Given the description of an element on the screen output the (x, y) to click on. 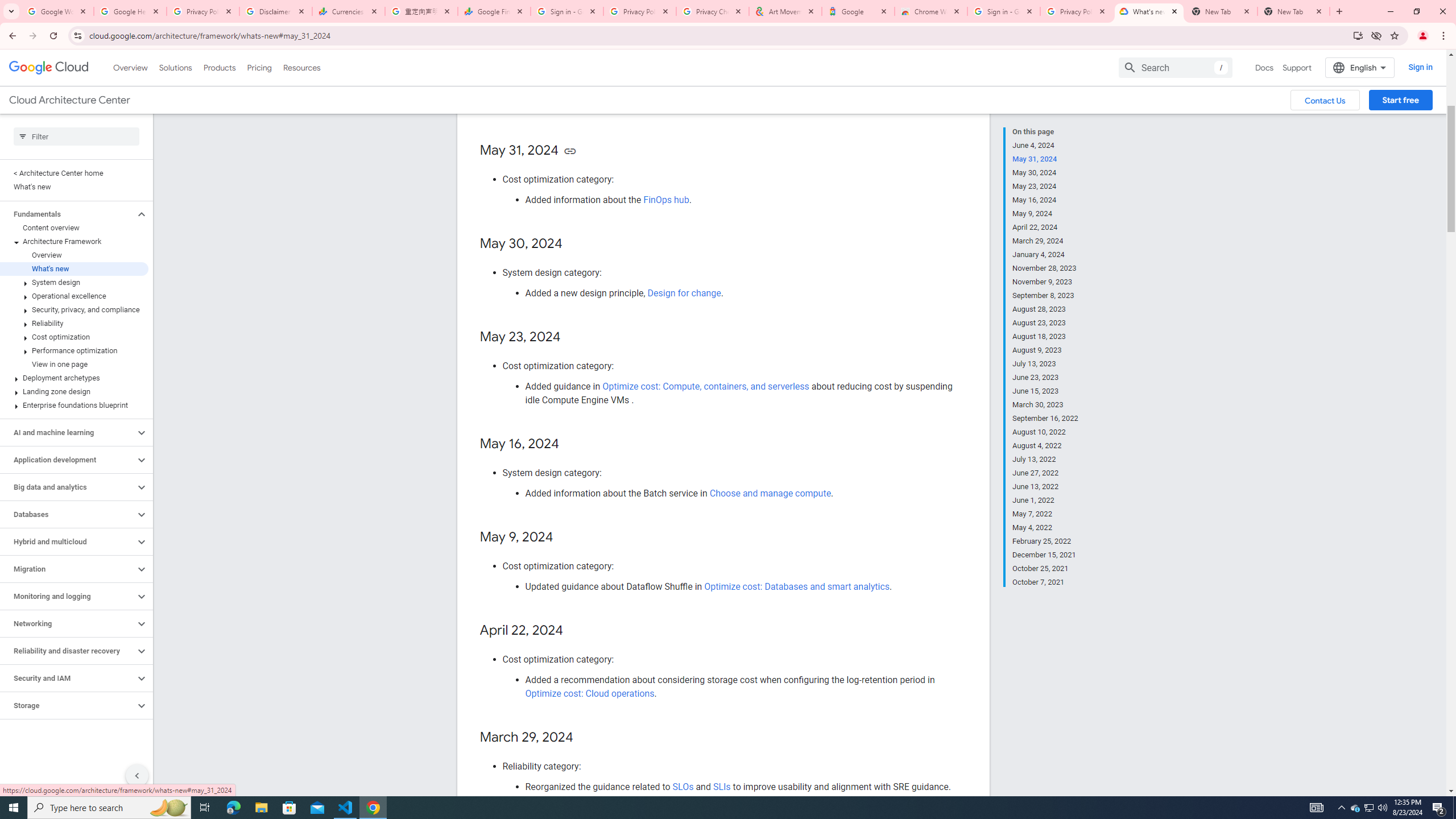
March 29, 2024 (1044, 241)
Resources (301, 67)
August 10, 2022 (1044, 431)
December 15, 2021 (1044, 554)
Solutions (175, 67)
August 18, 2023 (1044, 336)
August 28, 2023 (1044, 309)
Sign in - Google Accounts (1003, 11)
System design (74, 282)
Optimize cost: Cloud operations (590, 692)
English (1359, 67)
November 28, 2023 (1044, 268)
